Given the description of an element on the screen output the (x, y) to click on. 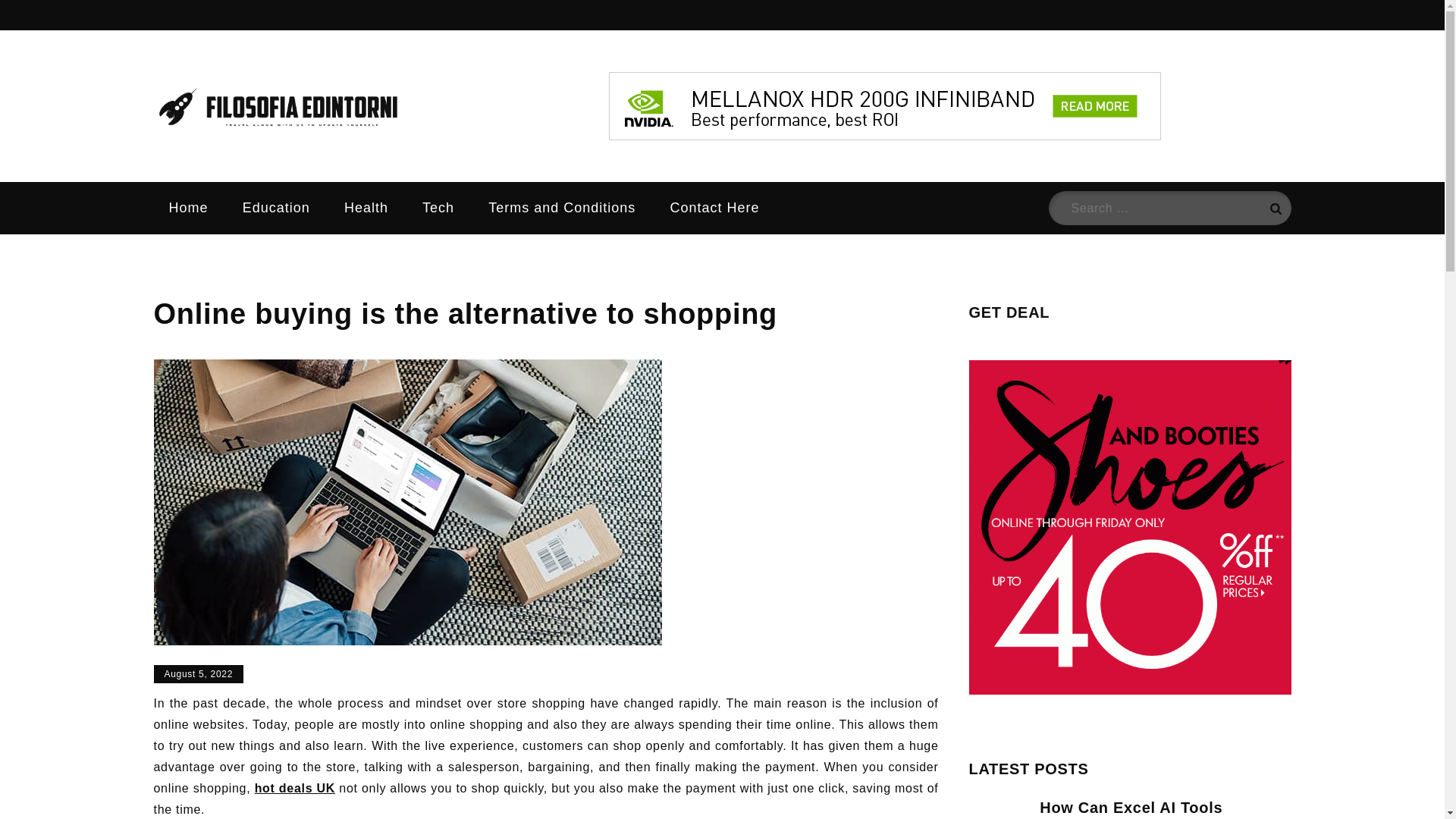
Education (275, 207)
Tech (437, 207)
August 5, 2022 (197, 674)
Filosofia Edintorni (563, 124)
Search (1274, 207)
Terms and Conditions (561, 207)
Contact Here (714, 207)
Health (366, 207)
How Can Excel AI Tools Improve Functionality? (1131, 809)
hot deals UK (294, 788)
